Given the description of an element on the screen output the (x, y) to click on. 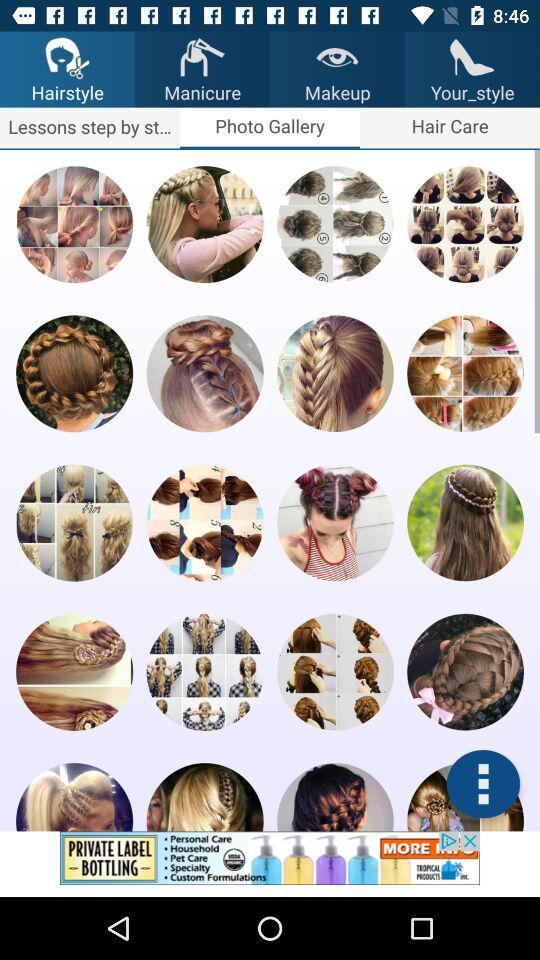
hairstyle lesson (204, 373)
